Given the description of an element on the screen output the (x, y) to click on. 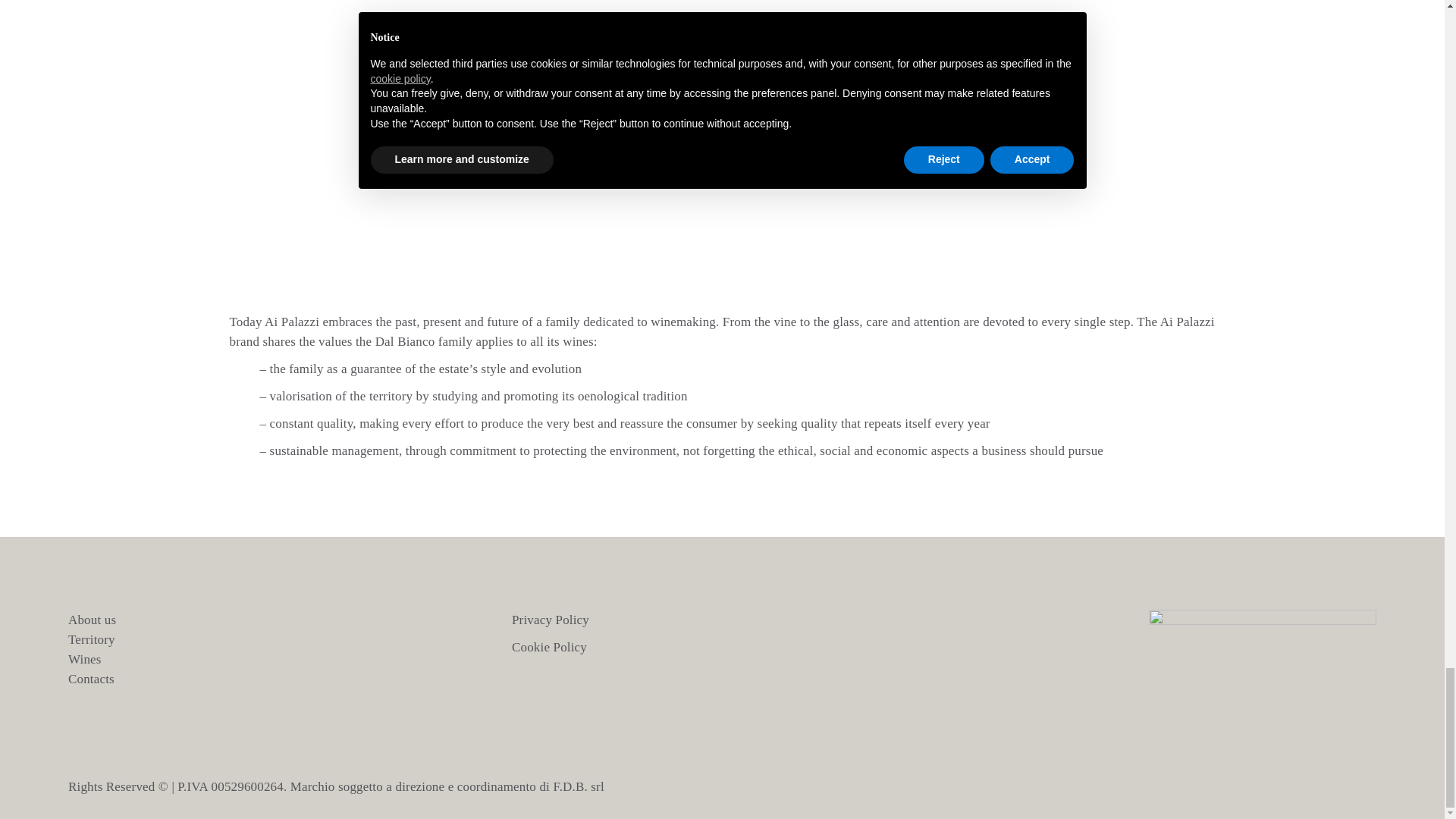
Privacy Policy (550, 619)
Cookie Policy (549, 646)
About us (92, 619)
Territory (91, 639)
Wines (84, 658)
Contacts (91, 678)
